Given the description of an element on the screen output the (x, y) to click on. 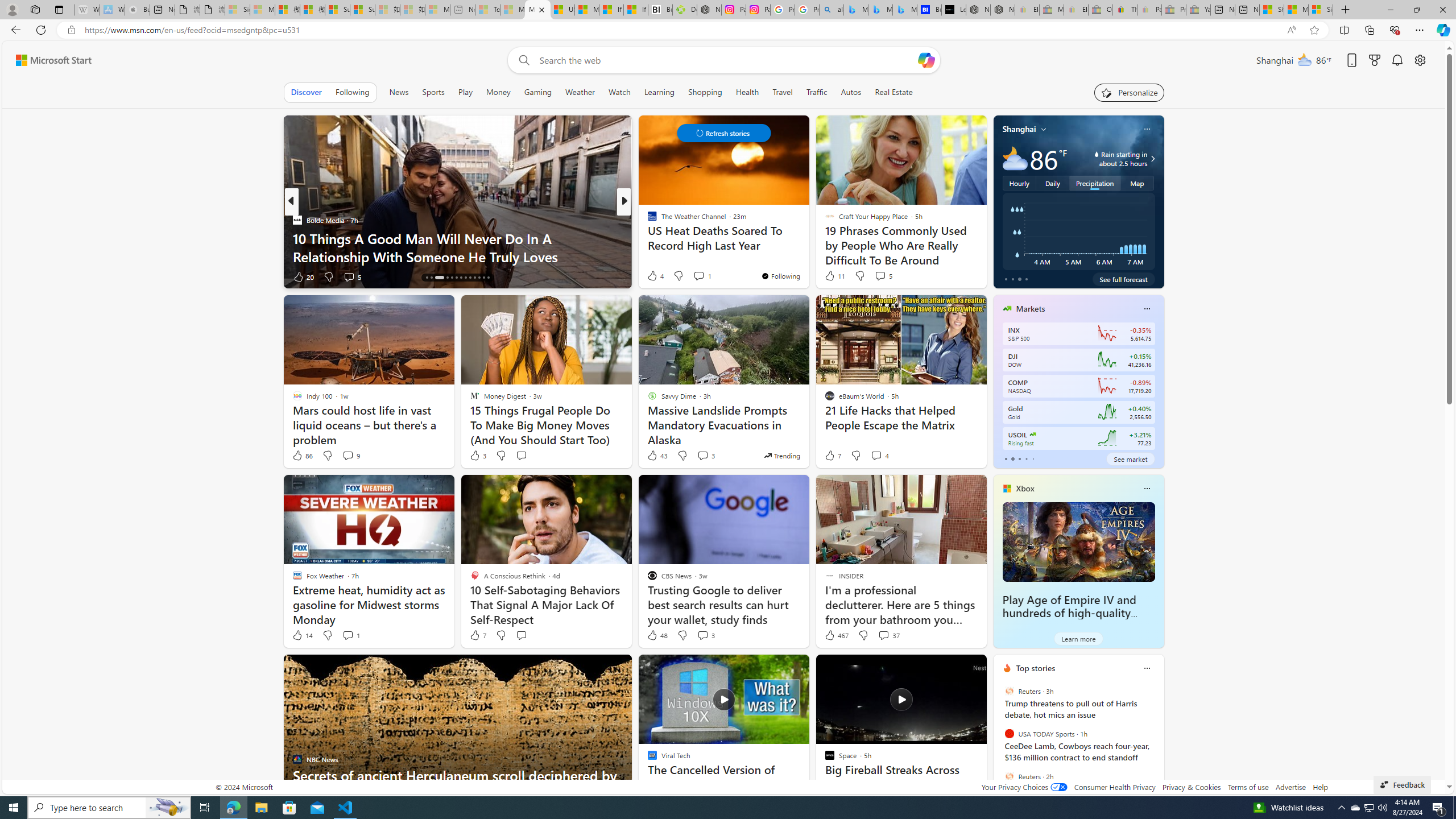
Play (465, 92)
My location (1043, 128)
Bolde Media (296, 219)
Sign in to your Microsoft account (1320, 9)
tab-3 (1025, 458)
View comments 1k Comment (698, 276)
View comments 1k Comment (703, 276)
Mostly cloudy (1014, 158)
AutomationID: tab-18 (451, 277)
View comments 11 Comment (703, 276)
